Given the description of an element on the screen output the (x, y) to click on. 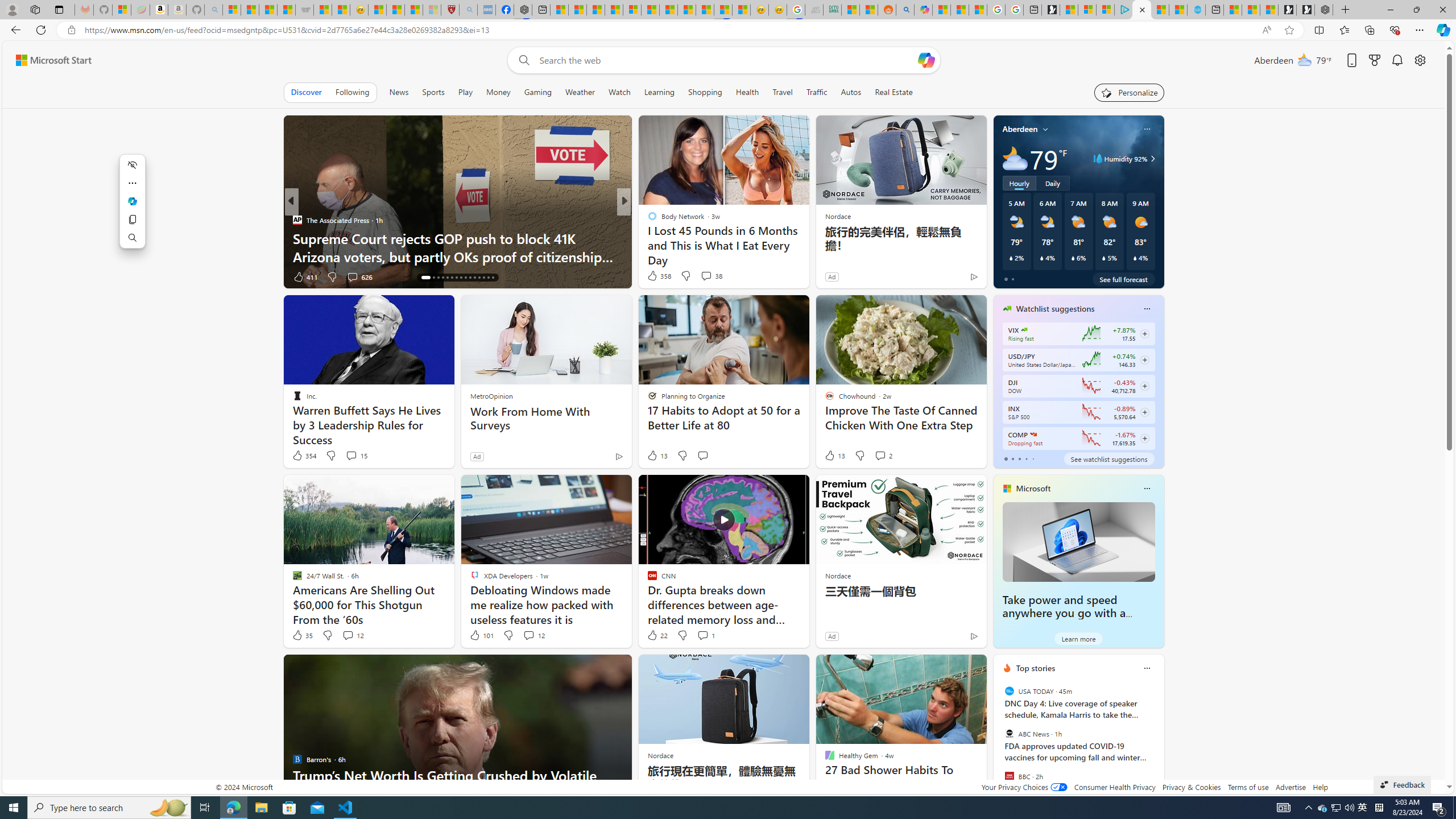
Utah sues federal government - Search (904, 9)
Mini menu on text selection (132, 201)
38 Like (652, 276)
NASDAQ (1032, 434)
At What Age Did Warren Buffett Become a Millionaire? (807, 247)
View comments 626 Comment (359, 276)
View comments 2 Comment (882, 455)
Class: icon-img (1146, 668)
